Given the description of an element on the screen output the (x, y) to click on. 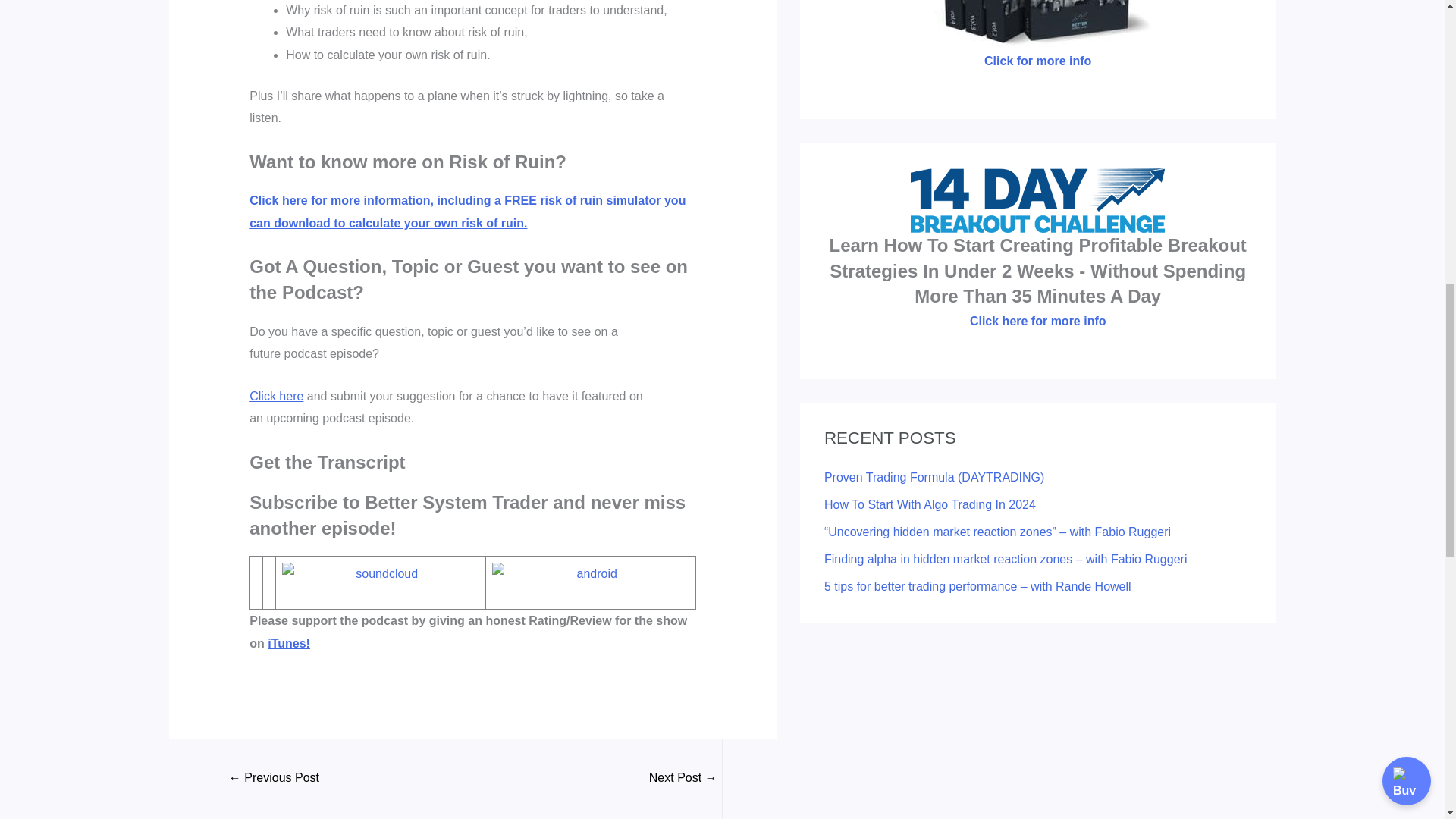
086 - Why consider future market conditions? (274, 778)
